Given the description of an element on the screen output the (x, y) to click on. 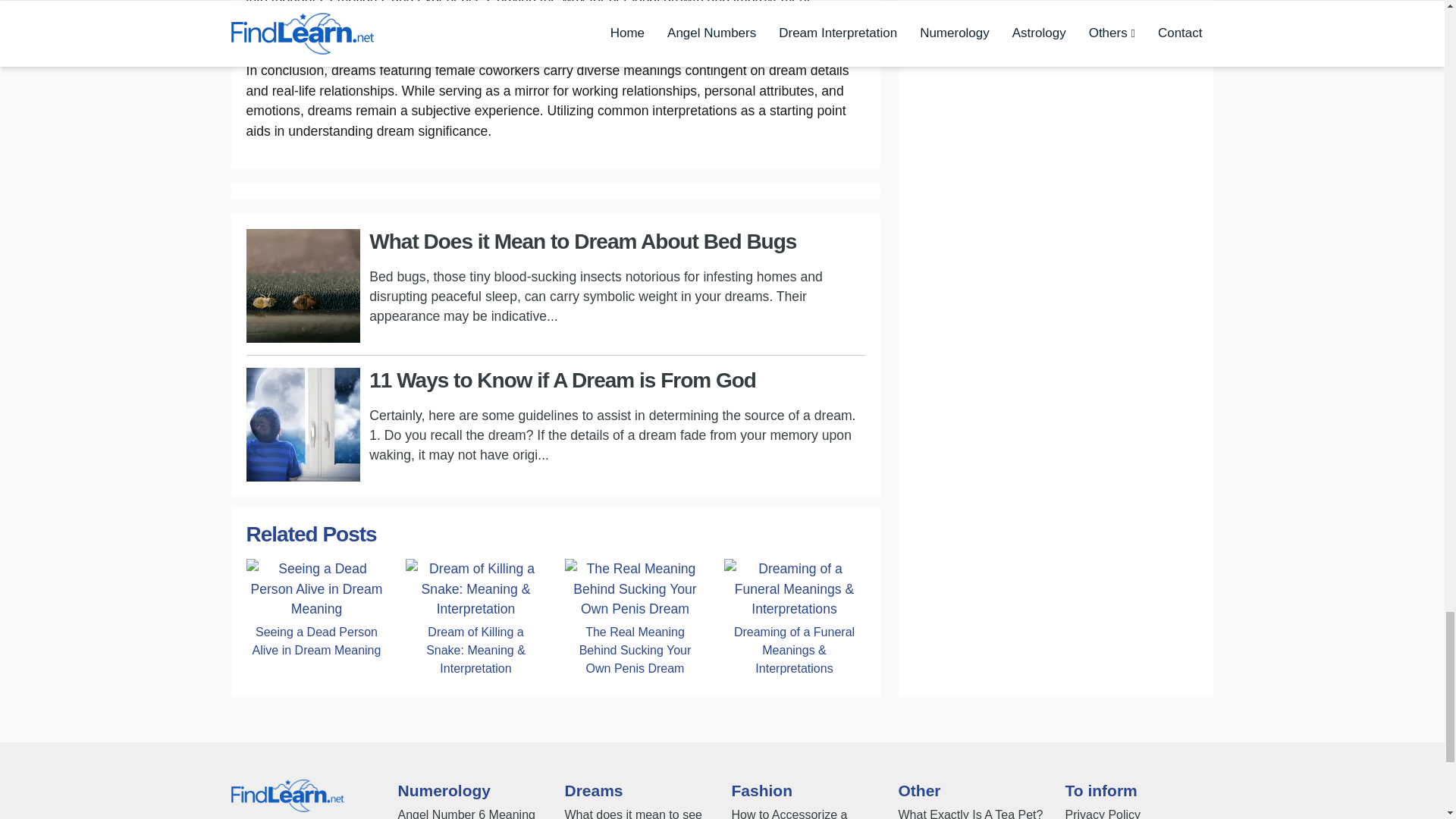
Seeing a Dead Person Alive in Dream Meaning (316, 588)
Seeing a Dead Person Alive in Dream Meaning (316, 641)
The Real Meaning Behind Sucking Your Own Penis Dream (634, 650)
